Given the description of an element on the screen output the (x, y) to click on. 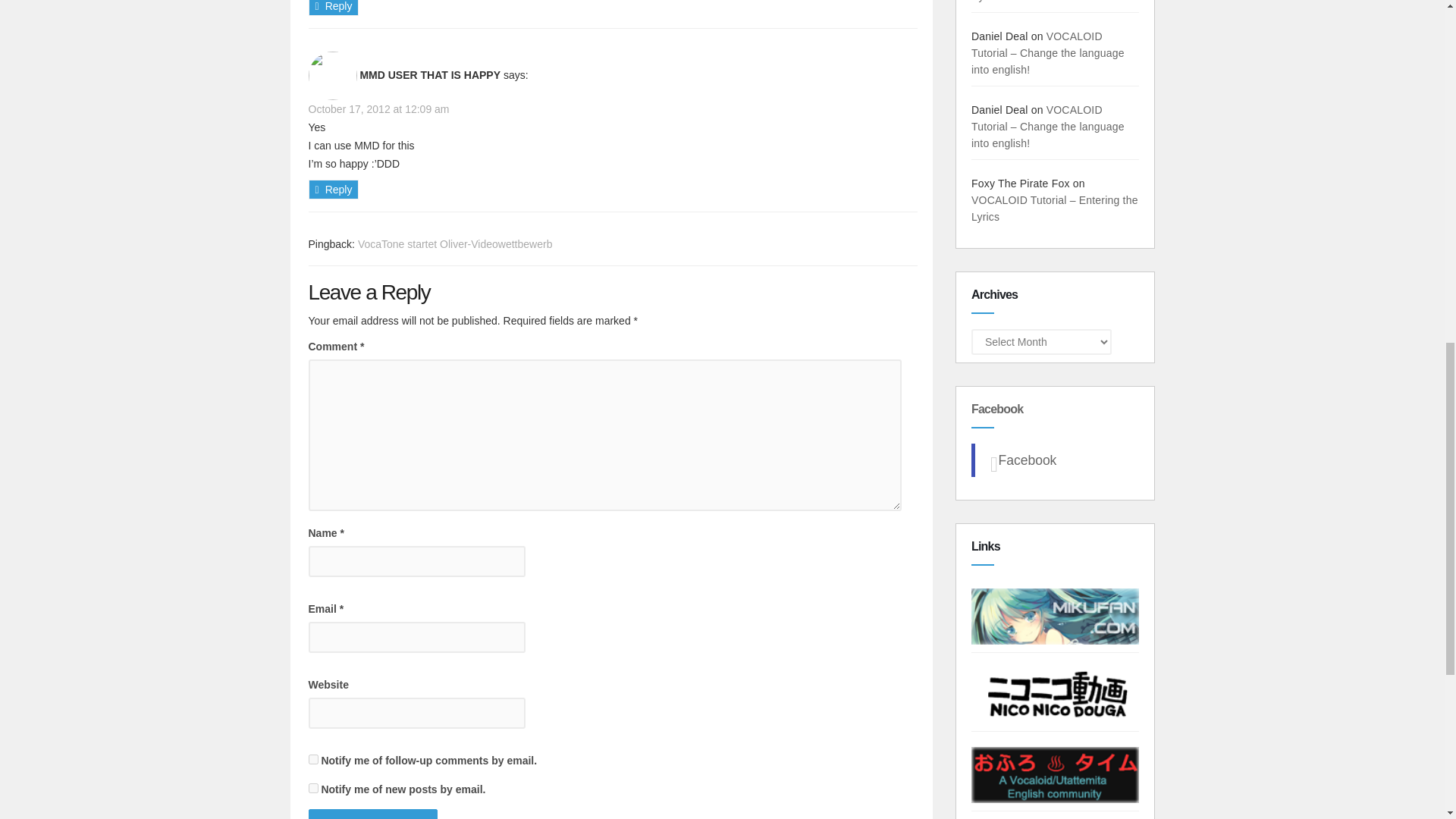
Facebook (993, 408)
UTAU for Mac: UTAU-Synth (1050, 1)
A Hatsune Miku Fansite (1054, 616)
A Hatsune Miku Fansite (1054, 614)
Reply (332, 189)
VocaTone startet Oliver-Videowettbewerb (455, 244)
subscribe (312, 759)
Post Comment (372, 814)
Facebook (1023, 459)
Reply (332, 7)
